Given the description of an element on the screen output the (x, y) to click on. 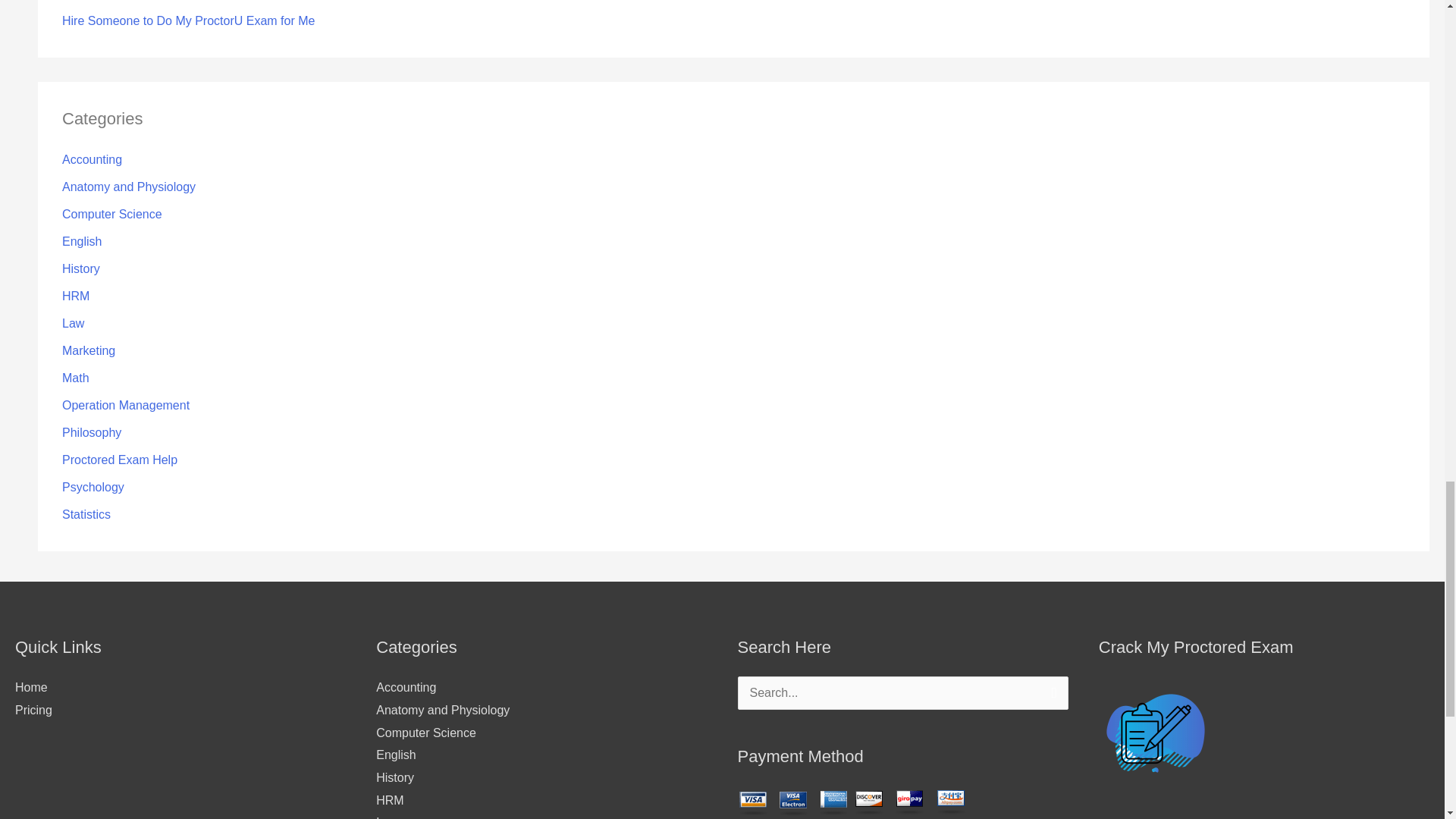
Anatomy and Physiology (128, 186)
Search (1050, 697)
HRM (75, 295)
English (81, 241)
Operation Management (125, 404)
Computer Science (111, 214)
Accounting (92, 159)
Proctored Exam Help (119, 459)
Philosophy (91, 431)
Marketing (88, 350)
Search (1050, 697)
Psychology (92, 486)
Pricing (33, 709)
Statistics (86, 513)
Home (31, 686)
